Given the description of an element on the screen output the (x, y) to click on. 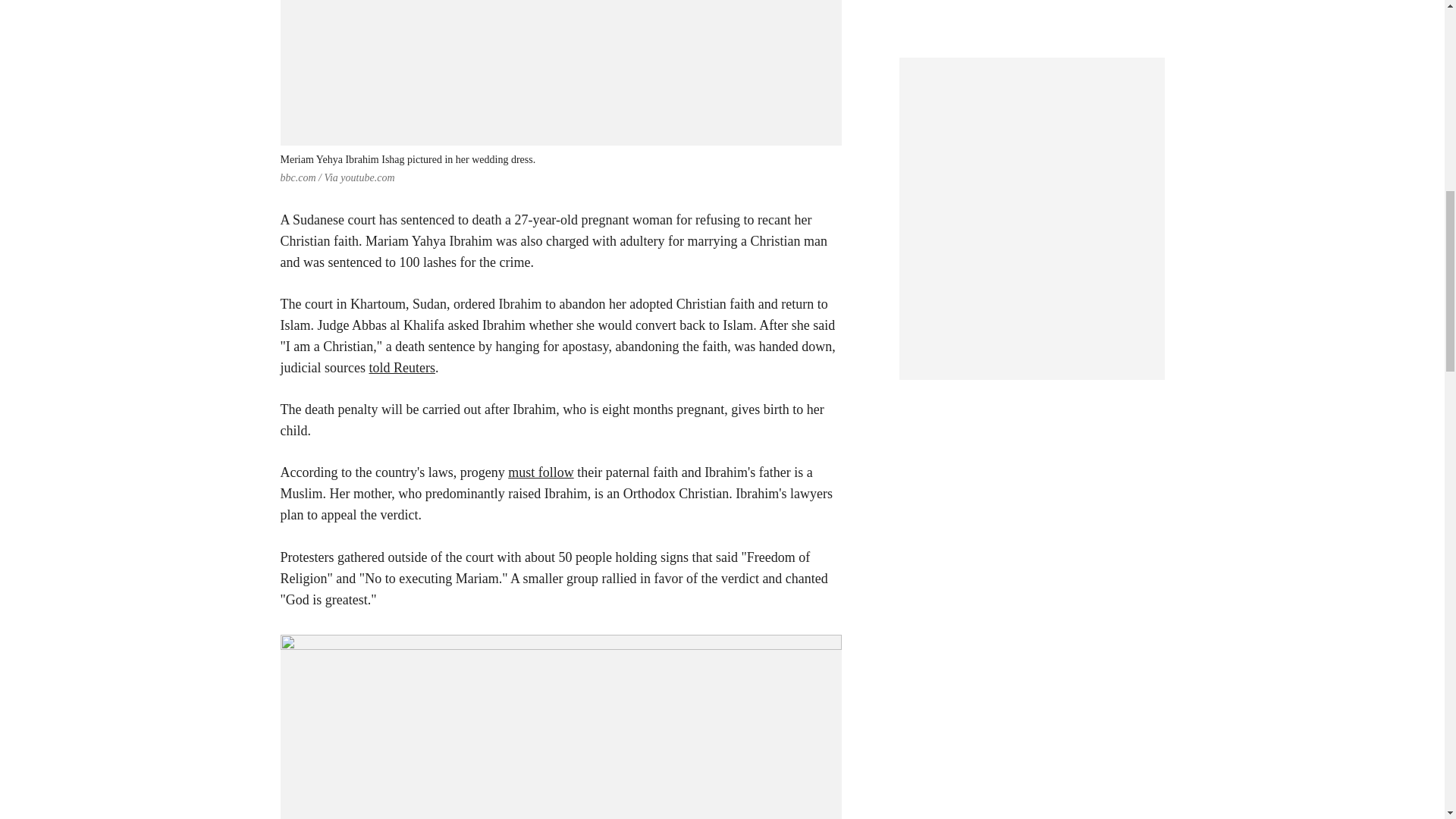
youtube.com (367, 177)
bbc.com (298, 177)
told Reuters (401, 367)
must follow (540, 472)
